Given the description of an element on the screen output the (x, y) to click on. 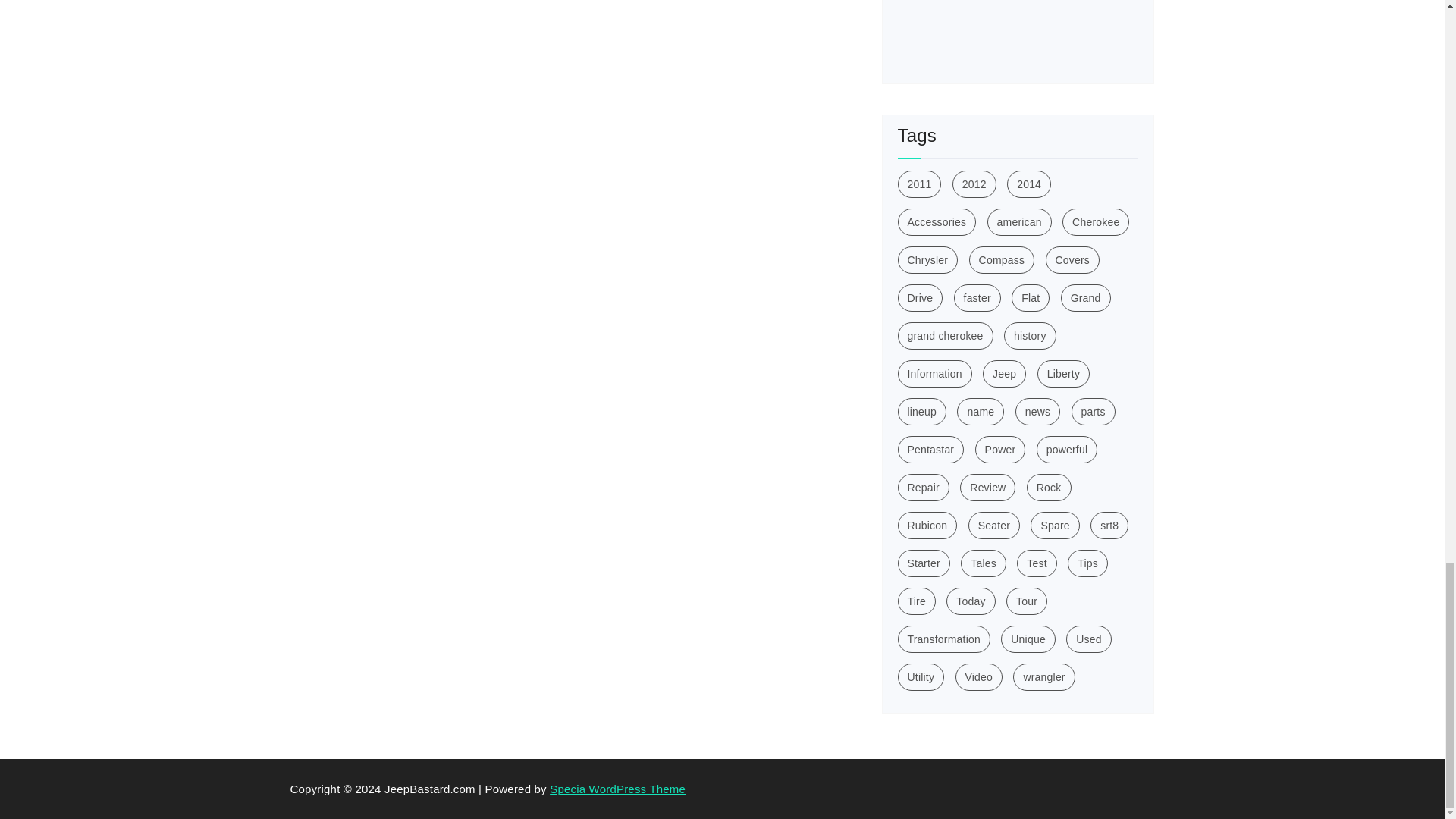
american (1019, 221)
2012 (973, 184)
Accessories (937, 221)
2011 (920, 184)
Advertisement (1012, 33)
2014 (1029, 184)
